Given the description of an element on the screen output the (x, y) to click on. 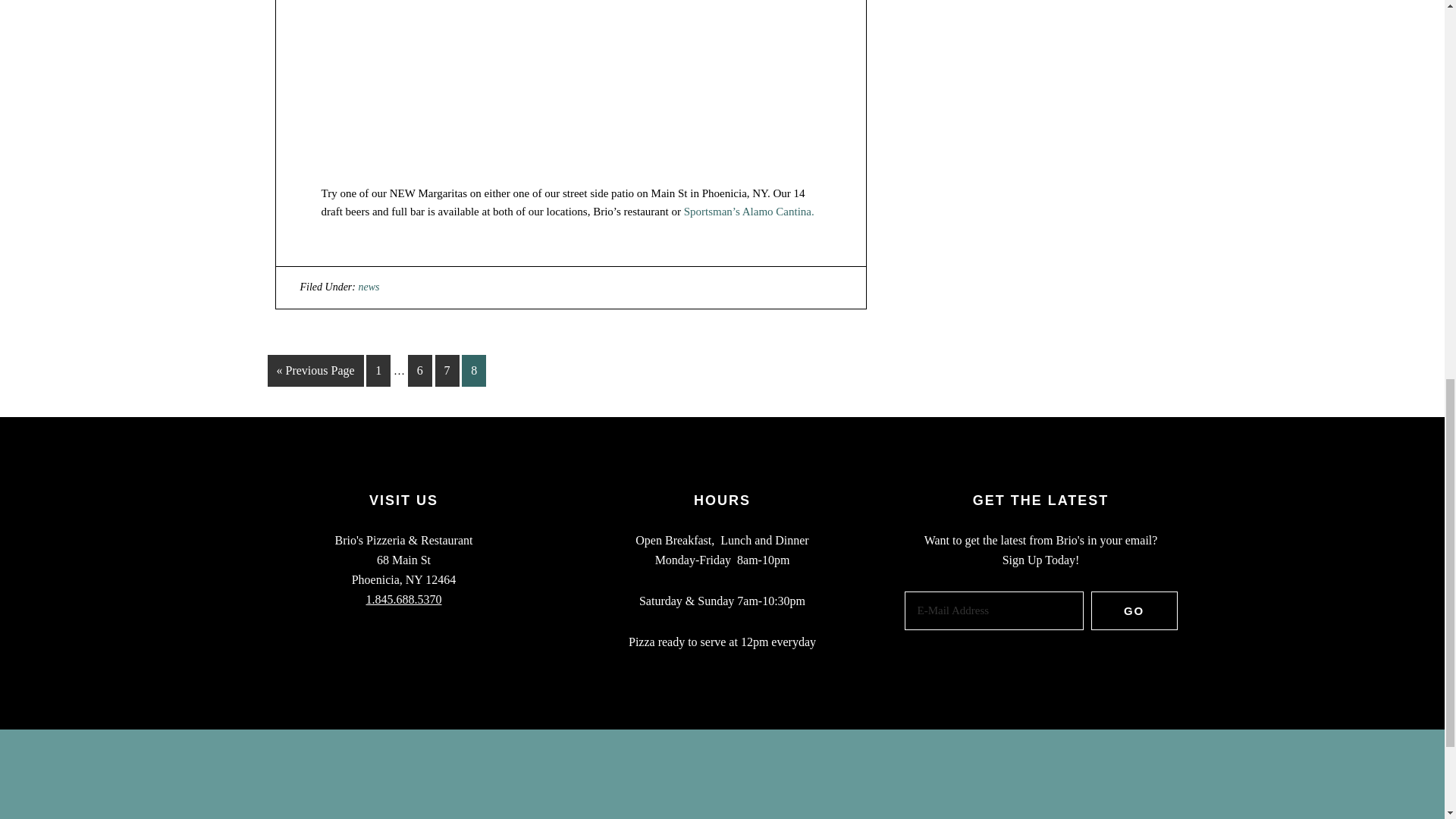
FACEBOOK (716, 812)
news (368, 286)
Go (1133, 610)
E-MAIL (617, 812)
Go (1133, 610)
1.845.688.5370 (403, 599)
TWITTER (820, 812)
